Given the description of an element on the screen output the (x, y) to click on. 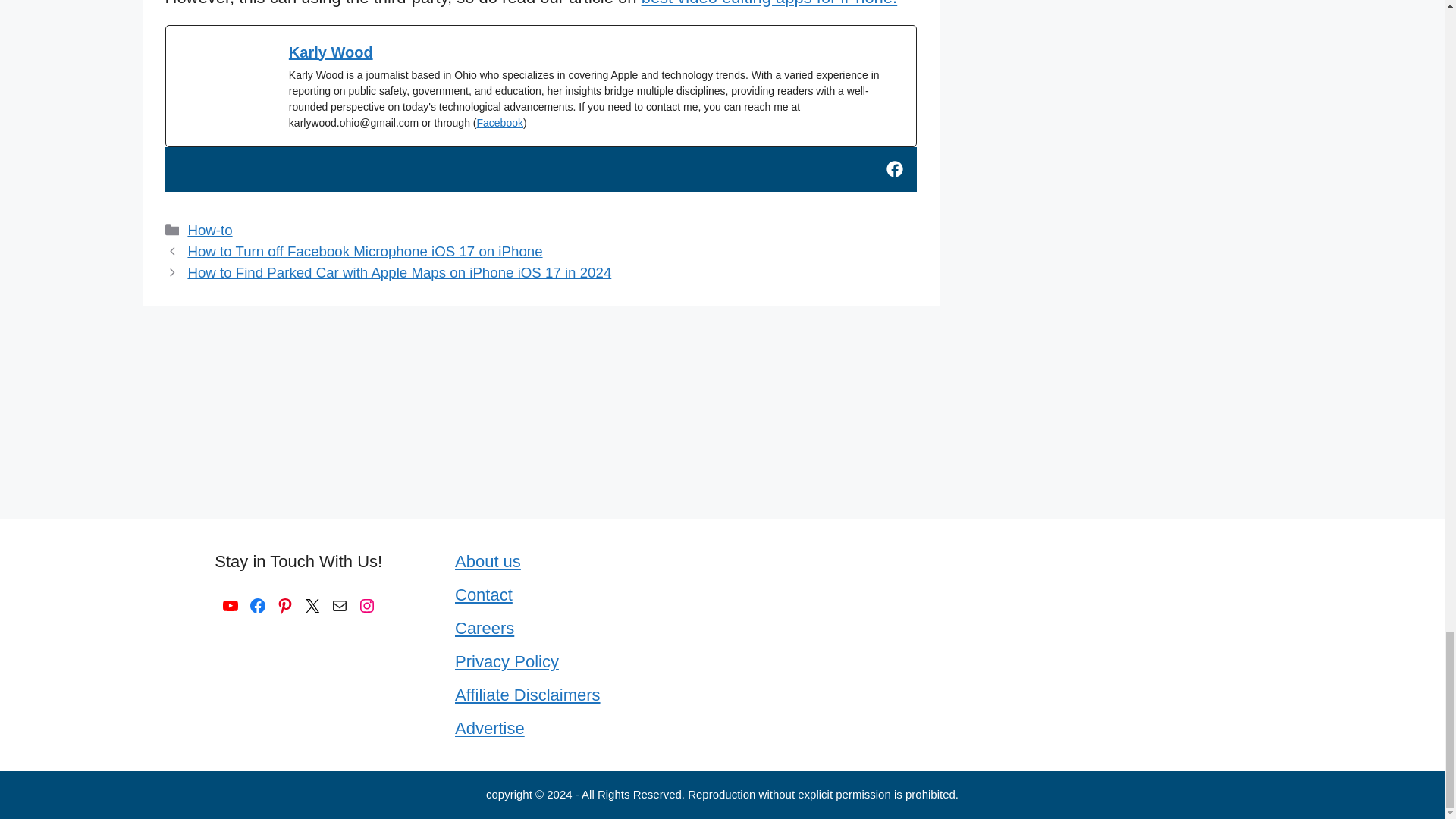
Karly Wood (330, 52)
YouTube (230, 606)
How-to (209, 229)
Facebook (499, 122)
Facebook (257, 606)
best video editing apps for iPhone. (770, 3)
How to Turn off Facebook Microphone iOS 17 on iPhone (364, 251)
